Given the description of an element on the screen output the (x, y) to click on. 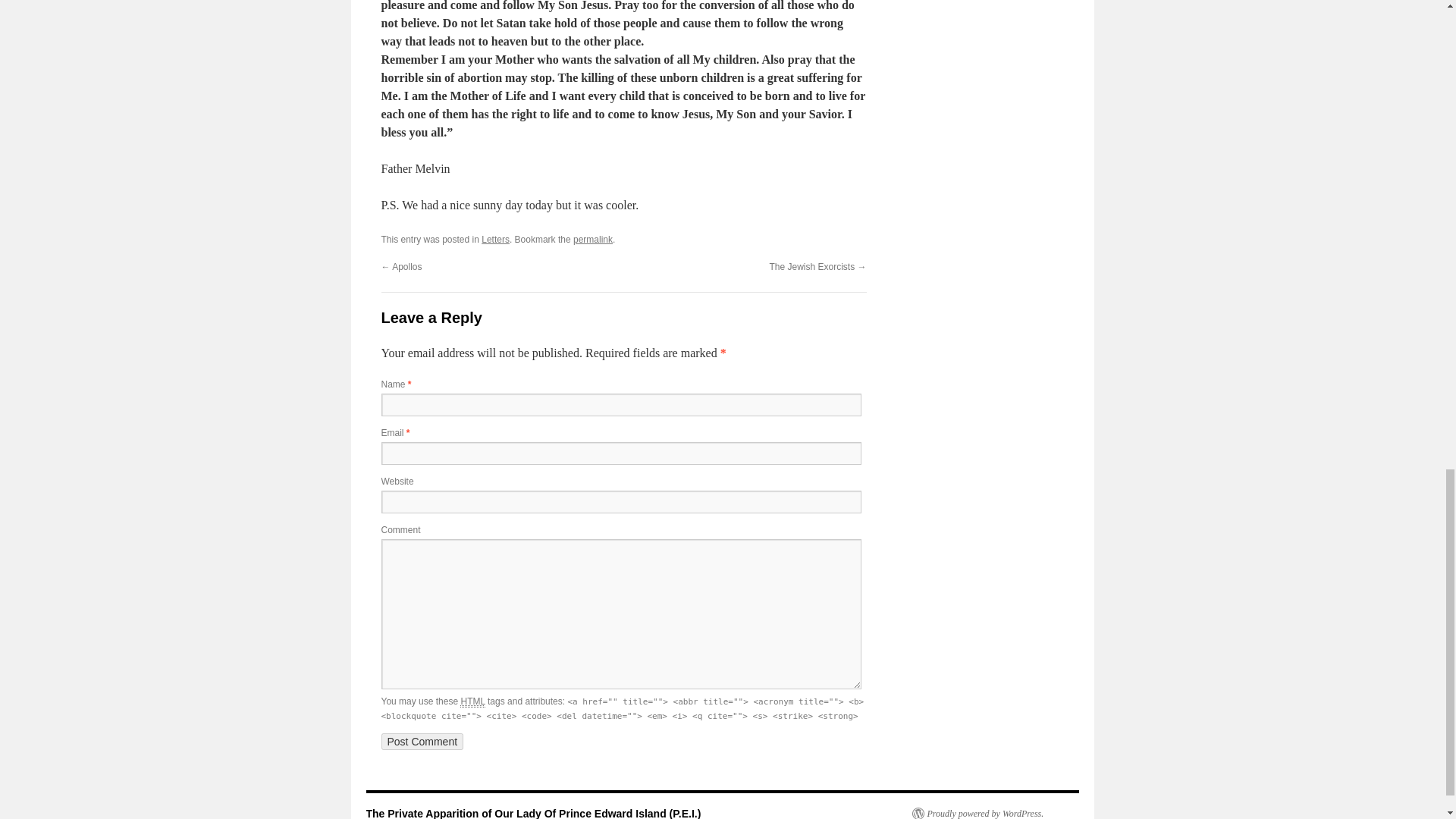
Letters (495, 239)
Post Comment (421, 741)
Permalink to Paul in Ephesus (592, 239)
permalink (592, 239)
HyperText Markup Language (472, 701)
Post Comment (421, 741)
